Given the description of an element on the screen output the (x, y) to click on. 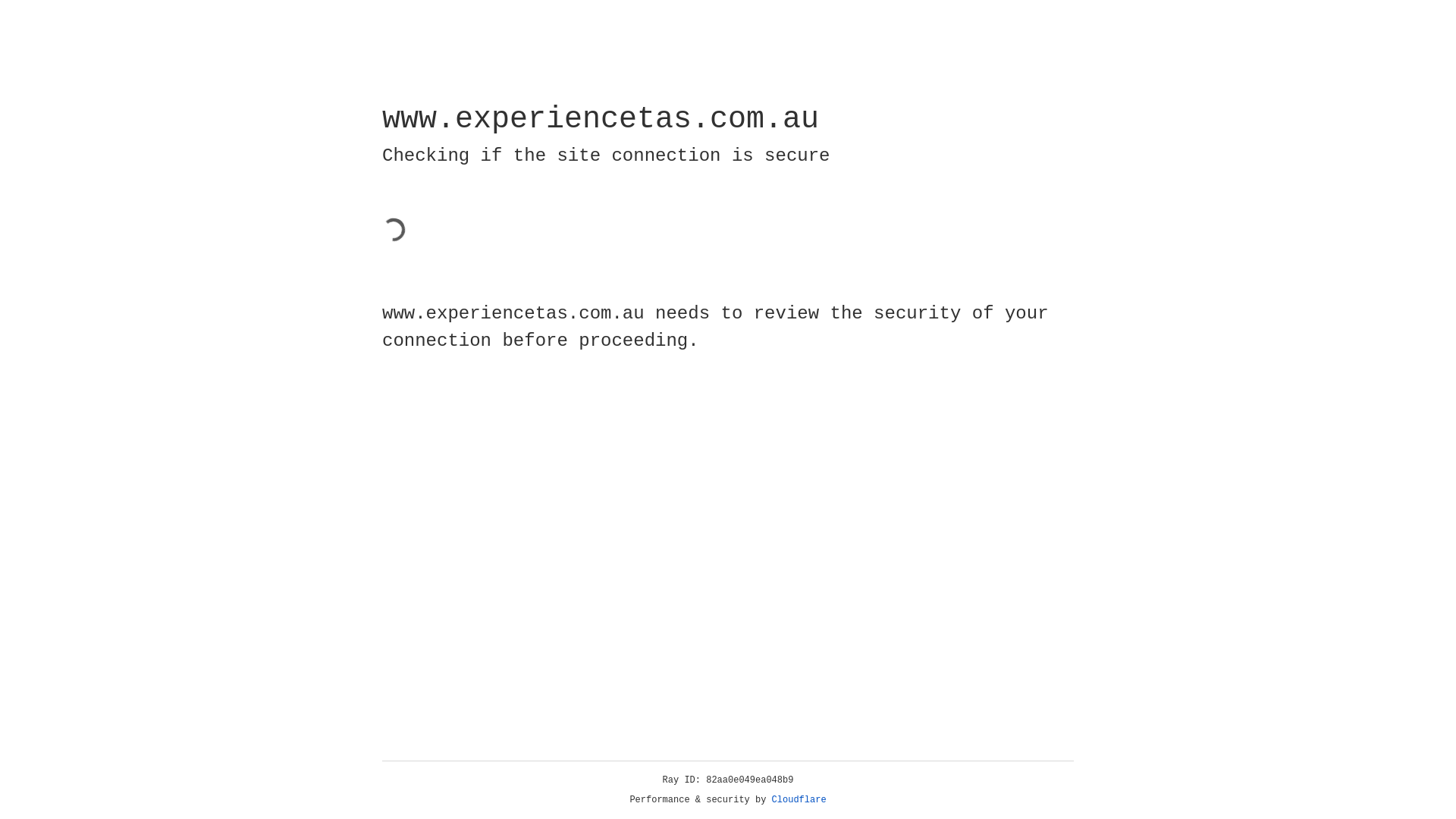
Cloudflare Element type: text (798, 799)
